Given the description of an element on the screen output the (x, y) to click on. 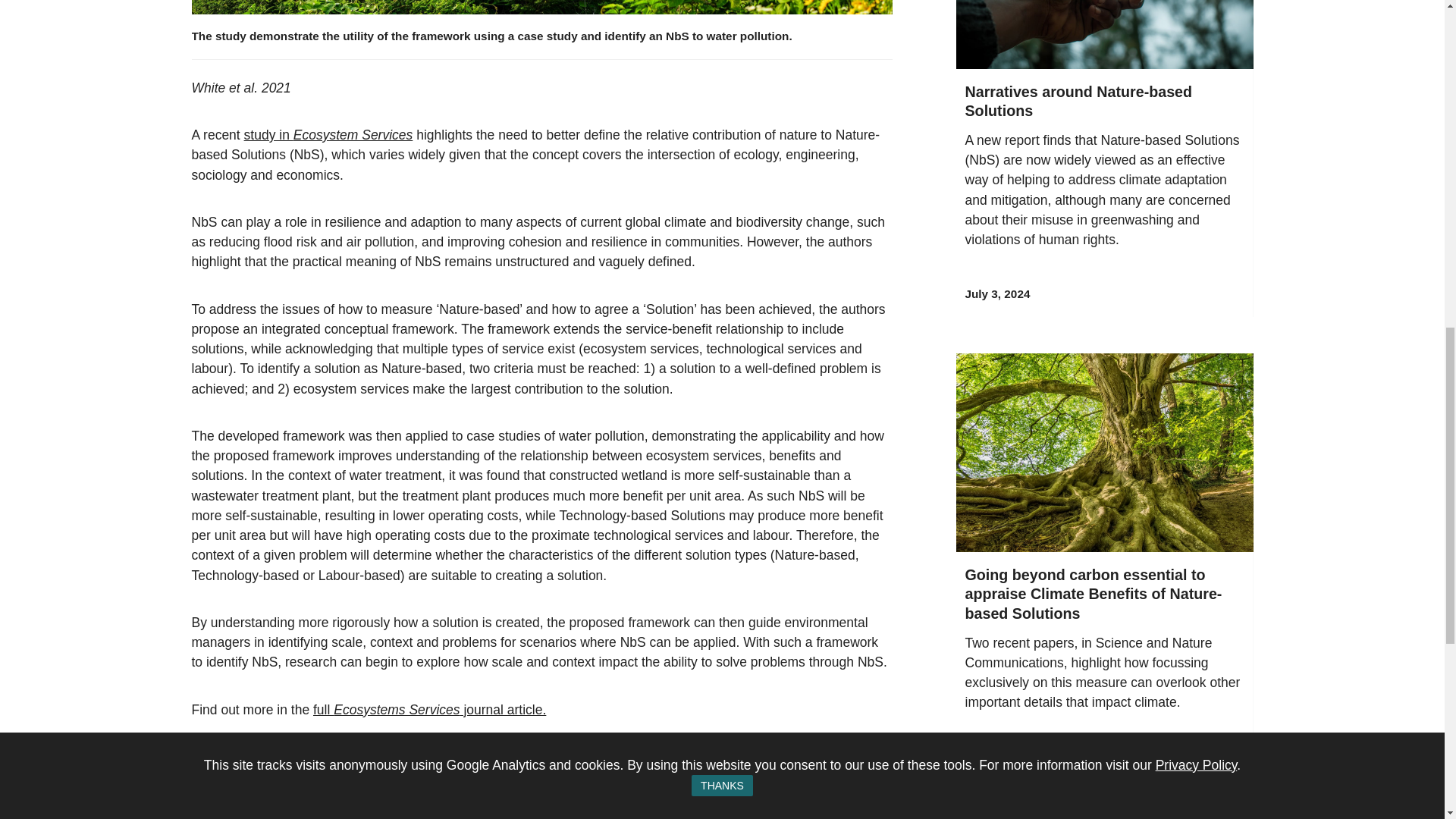
Post to X (272, 813)
Post to X (272, 813)
Post to Facebook (204, 813)
Post to Linked In (238, 813)
Post to facebook (204, 813)
Post to Linked In (238, 813)
